Given the description of an element on the screen output the (x, y) to click on. 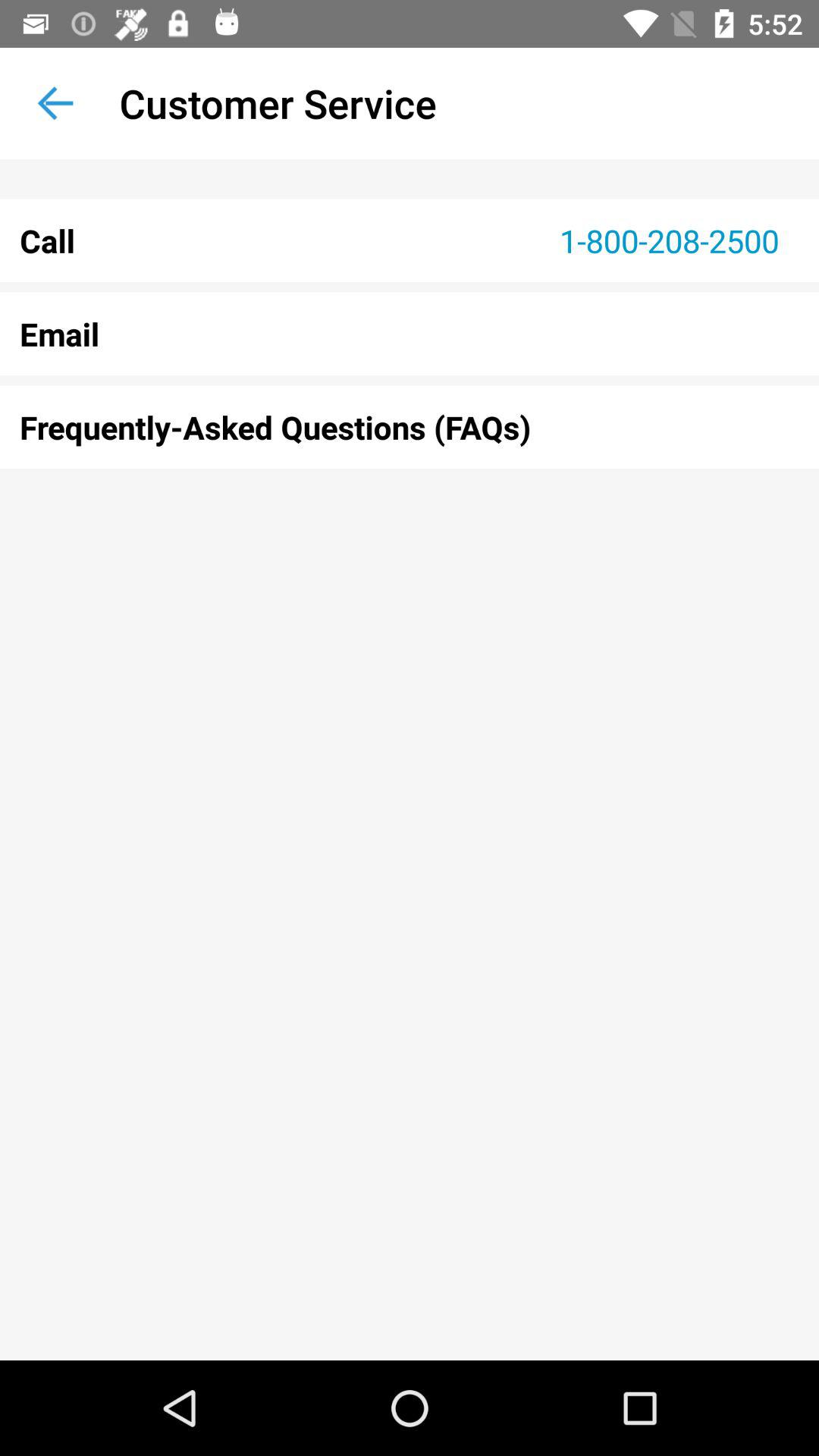
tap the icon at the top left corner (55, 103)
